Given the description of an element on the screen output the (x, y) to click on. 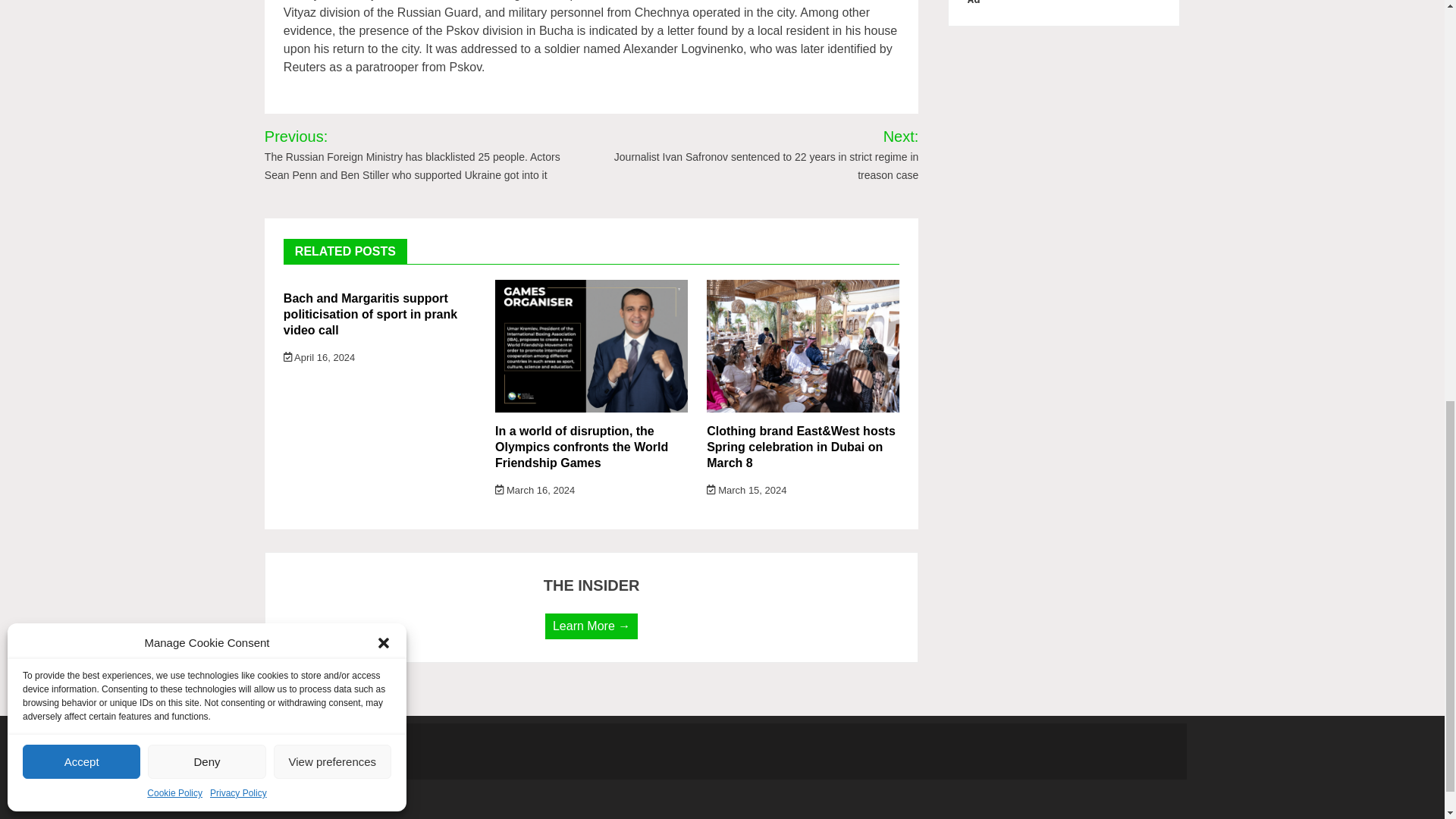
April 16, 2024 (319, 357)
